Given the description of an element on the screen output the (x, y) to click on. 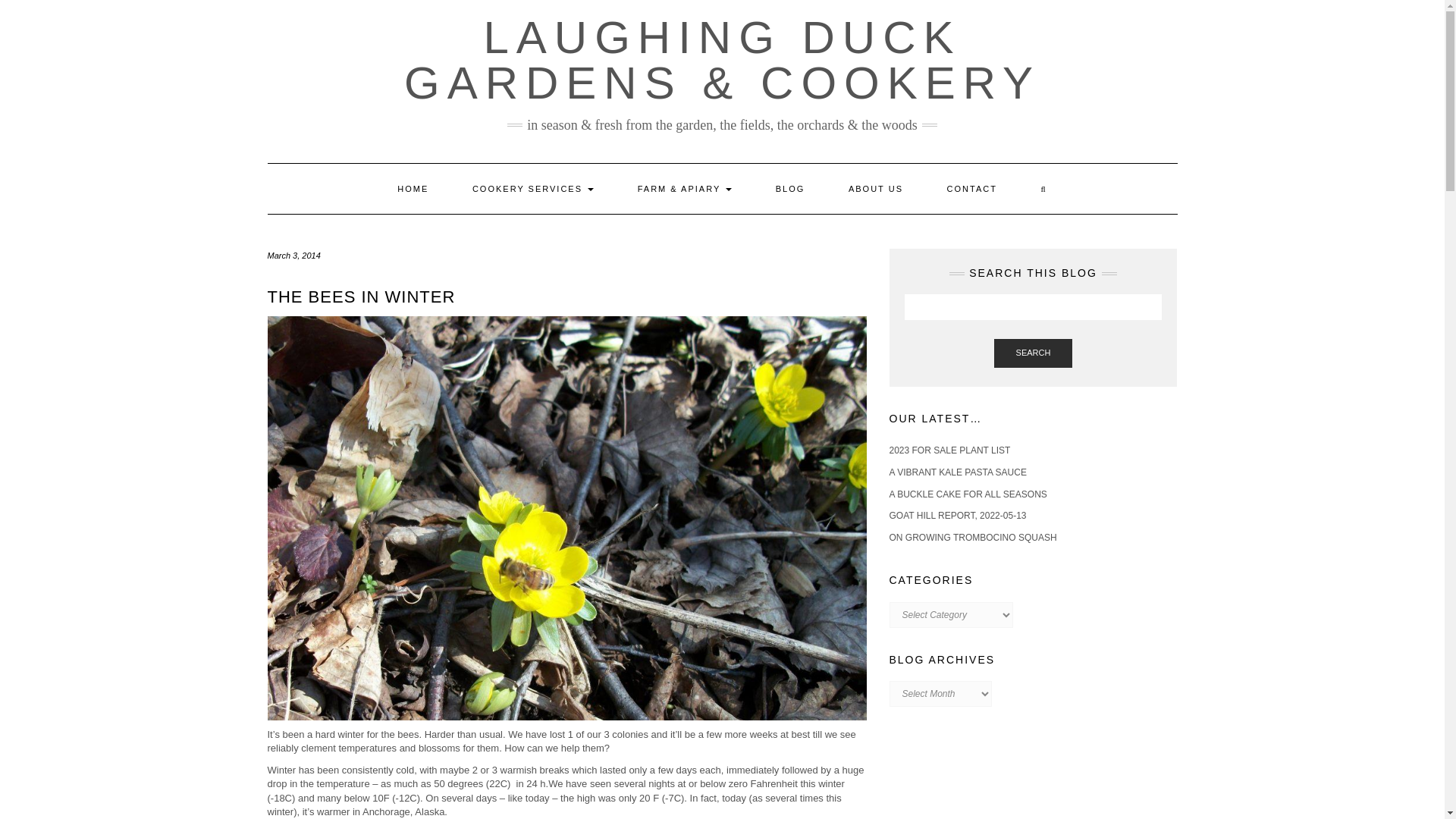
BLOG (790, 188)
CONTACT (971, 188)
GOAT HILL REPORT, 2022-05-13 (957, 515)
ON GROWING TROMBOCINO SQUASH (972, 537)
A BUCKLE CAKE FOR ALL SEASONS (967, 493)
COOKERY SERVICES (532, 188)
2023 FOR SALE PLANT LIST (949, 450)
HOME (412, 188)
A VIBRANT KALE PASTA SAUCE (957, 471)
SEARCH (1033, 353)
ABOUT US (875, 188)
